Given the description of an element on the screen output the (x, y) to click on. 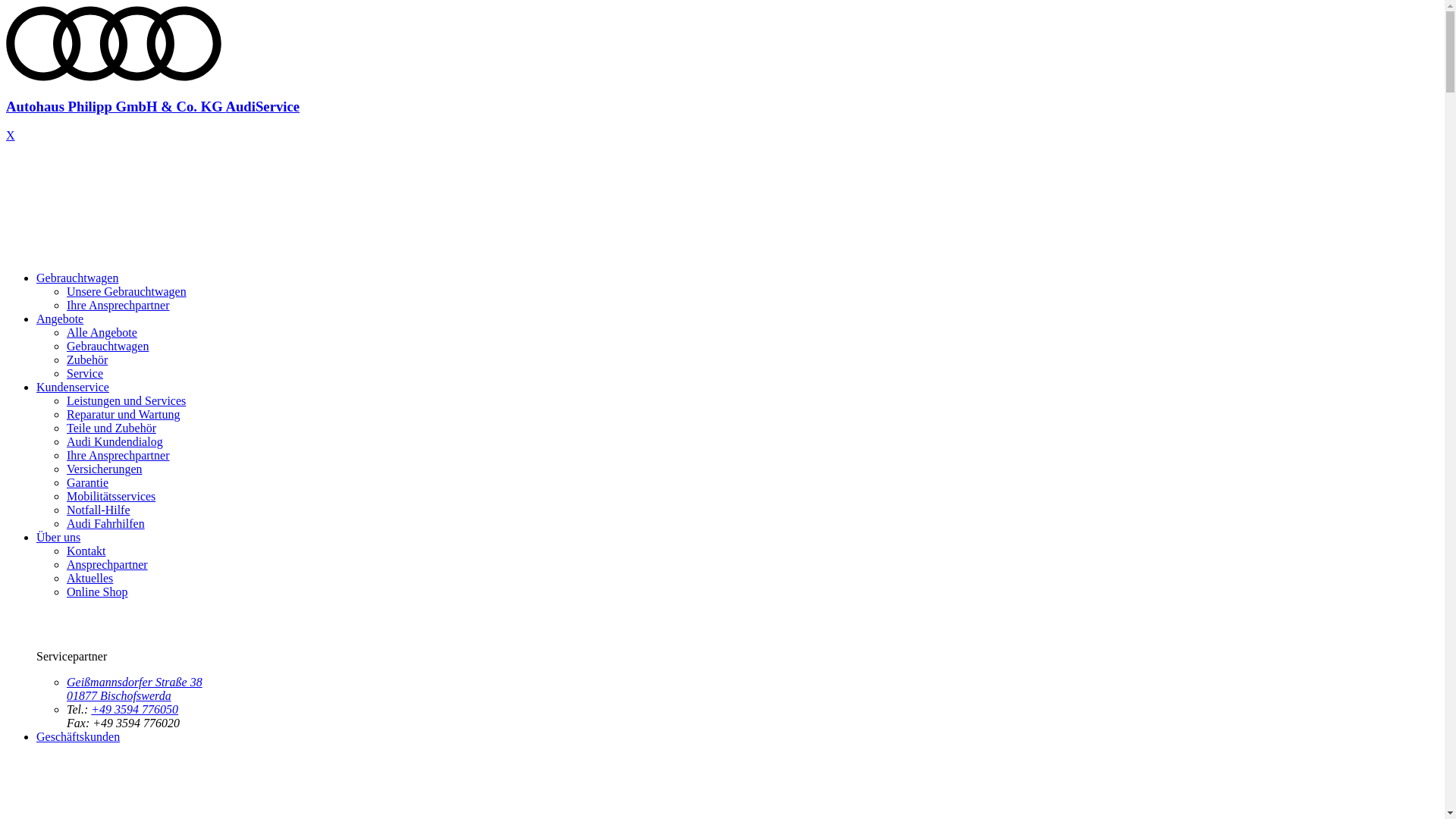
Aktuelles Element type: text (89, 577)
Audi Kundendialog Element type: text (114, 441)
Ihre Ansprechpartner Element type: text (117, 454)
+49 3594 776050 Element type: text (134, 708)
Garantie Element type: text (87, 482)
Versicherungen Element type: text (104, 468)
Alle Angebote Element type: text (101, 332)
Angebote Element type: text (59, 318)
X Element type: text (10, 134)
Audi Fahrhilfen Element type: text (105, 523)
Notfall-Hilfe Element type: text (98, 509)
Reparatur und Wartung Element type: text (122, 413)
Unsere Gebrauchtwagen Element type: text (126, 291)
Gebrauchtwagen Element type: text (77, 277)
Leistungen und Services Element type: text (125, 400)
Service Element type: text (84, 373)
Ansprechpartner Element type: text (106, 564)
Online Shop Element type: text (96, 591)
Ihre Ansprechpartner Element type: text (117, 304)
Kontakt Element type: text (86, 550)
Autohaus Philipp GmbH & Co. KG AudiService Element type: text (722, 92)
Kundenservice Element type: text (72, 386)
Gebrauchtwagen Element type: text (107, 345)
